Given the description of an element on the screen output the (x, y) to click on. 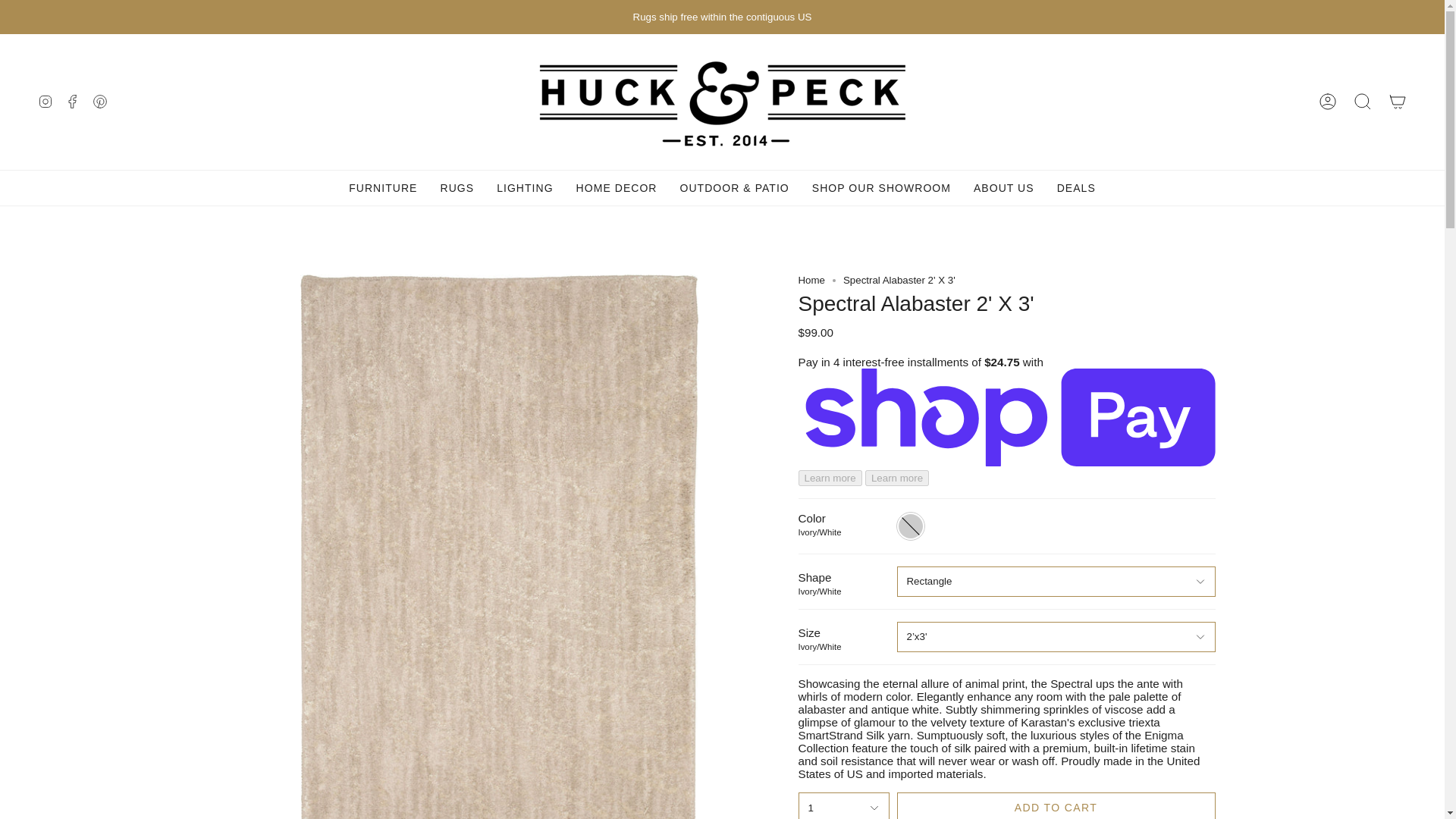
RUGS (456, 187)
FURNITURE (382, 187)
